Given the description of an element on the screen output the (x, y) to click on. 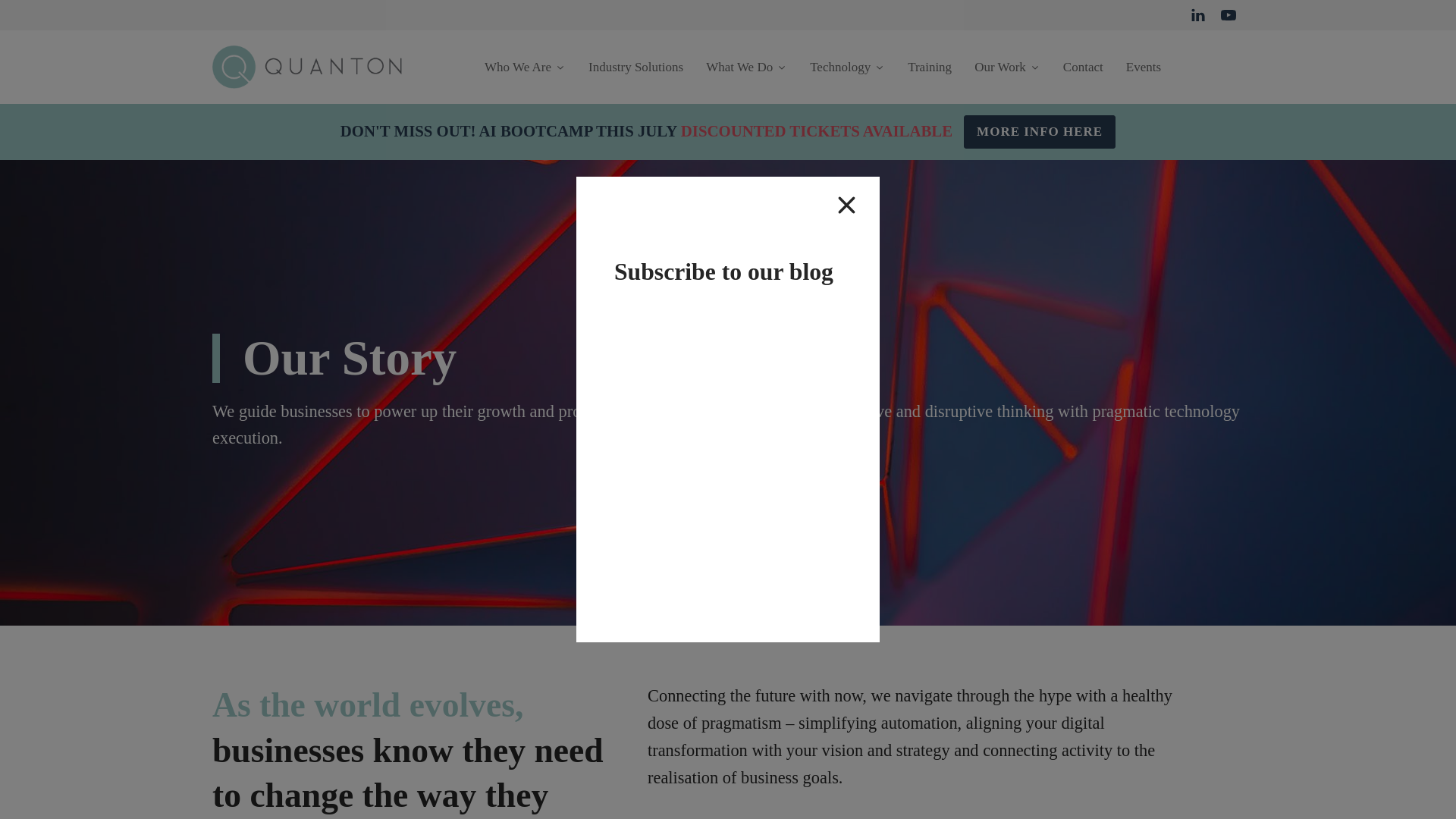
Training (929, 66)
Technology (846, 66)
What We Do (745, 66)
Industry Solutions (635, 66)
Our Work (1006, 66)
Events (1143, 66)
Who We Are (524, 66)
Contact (1083, 66)
